Given the description of an element on the screen output the (x, y) to click on. 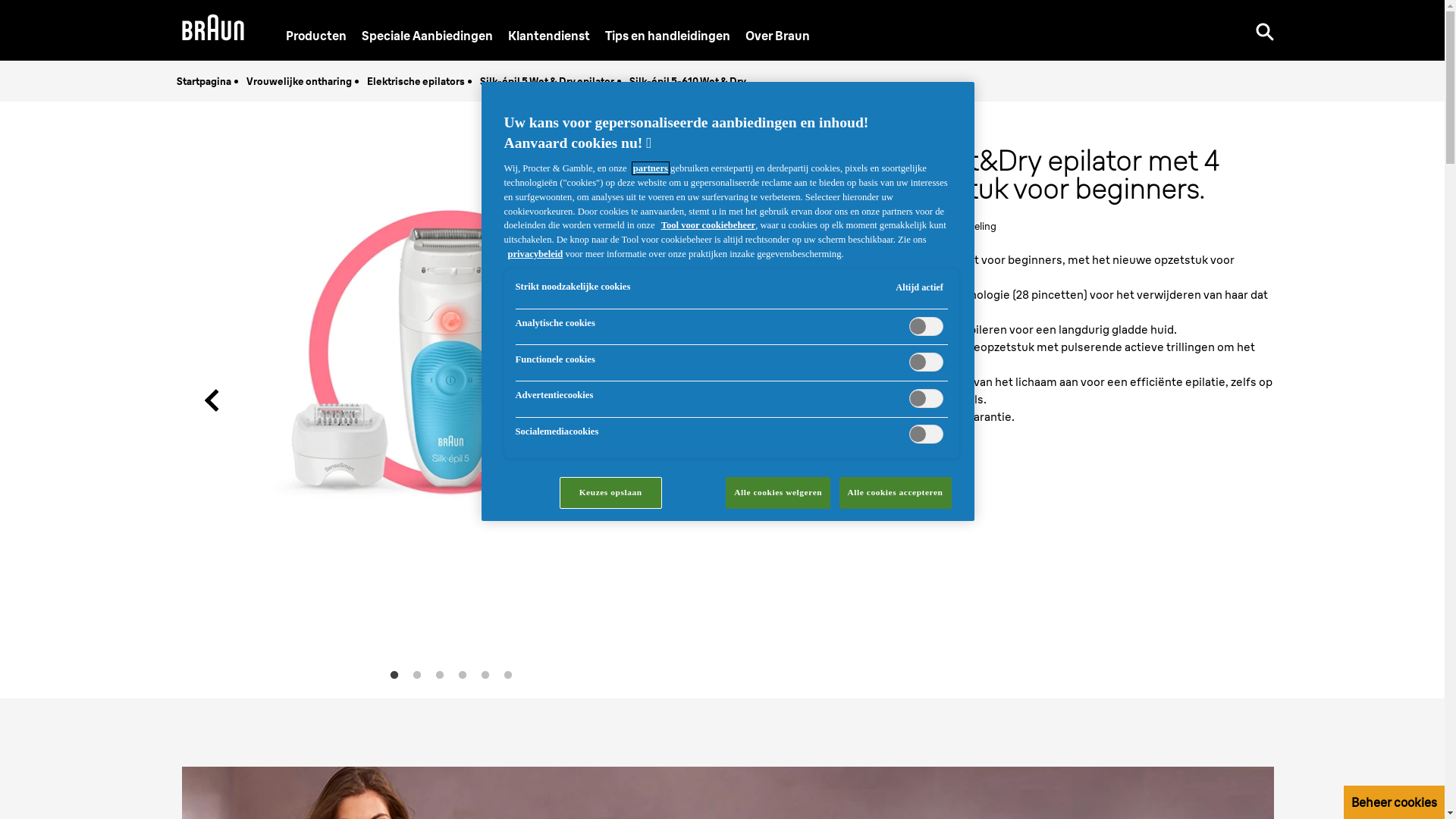
4 Element type: text (462, 675)
Elektrische epilators Element type: text (415, 81)
Klantendienst Element type: text (548, 34)
Speciale Aanbiedingen Element type: text (426, 34)
Startpagina Element type: text (202, 81)
5 Element type: text (484, 675)
2 Element type: text (416, 675)
Over Braun Element type: text (777, 34)
UI/Icon/Search Element type: text (1264, 29)
1 Element type: text (393, 675)
3 Element type: text (439, 675)
Braun Element type: hover (213, 29)
6 Element type: text (507, 675)
Vrouwelijke ontharing Element type: text (298, 81)
